Given the description of an element on the screen output the (x, y) to click on. 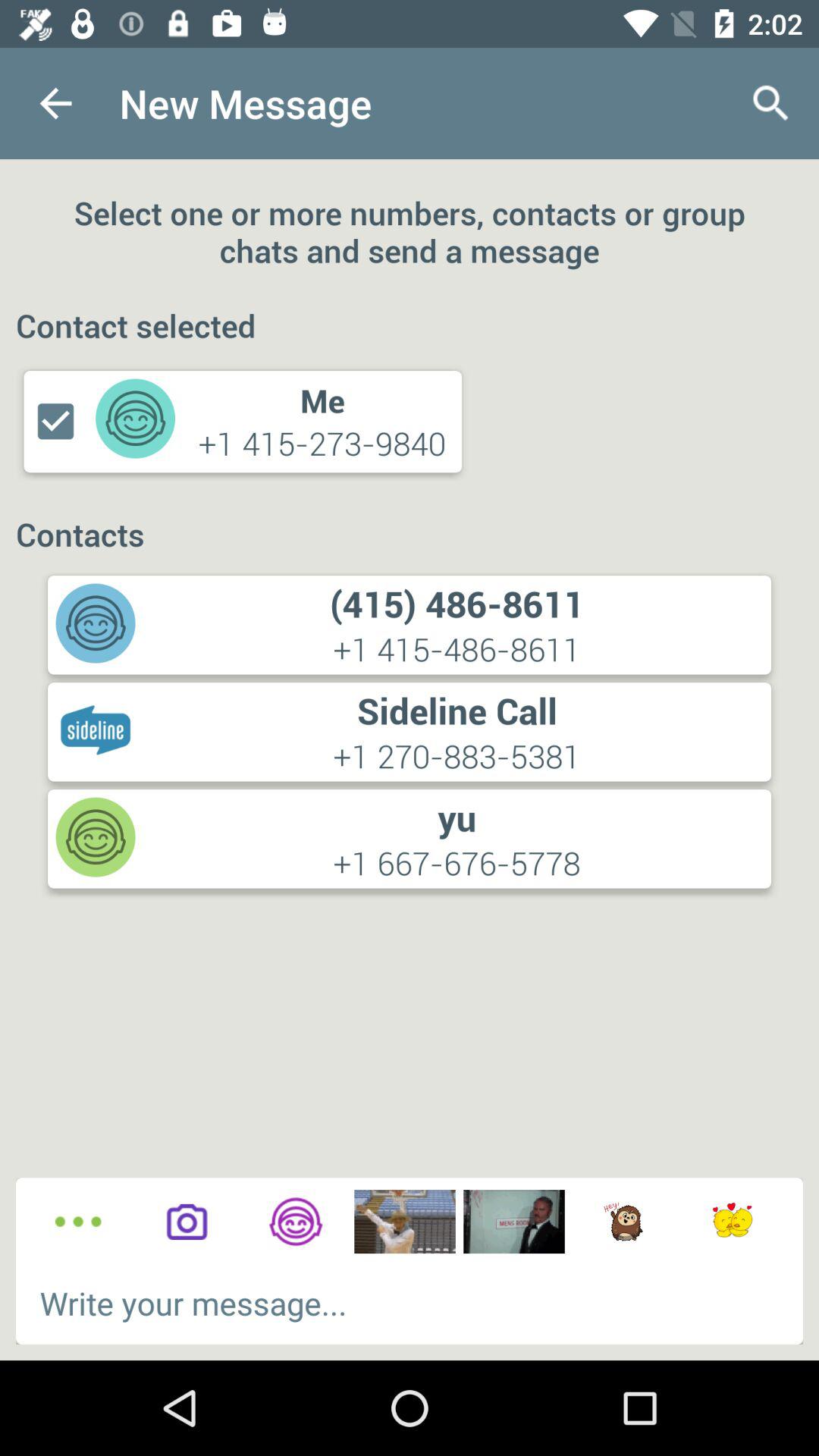
more options (77, 1221)
